Given the description of an element on the screen output the (x, y) to click on. 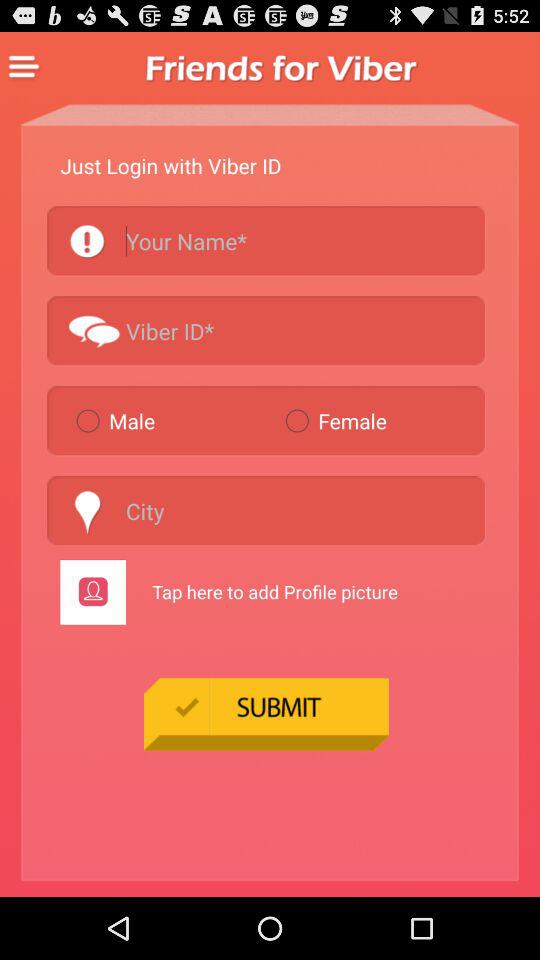
tap the item to the left of the female item (171, 420)
